Given the description of an element on the screen output the (x, y) to click on. 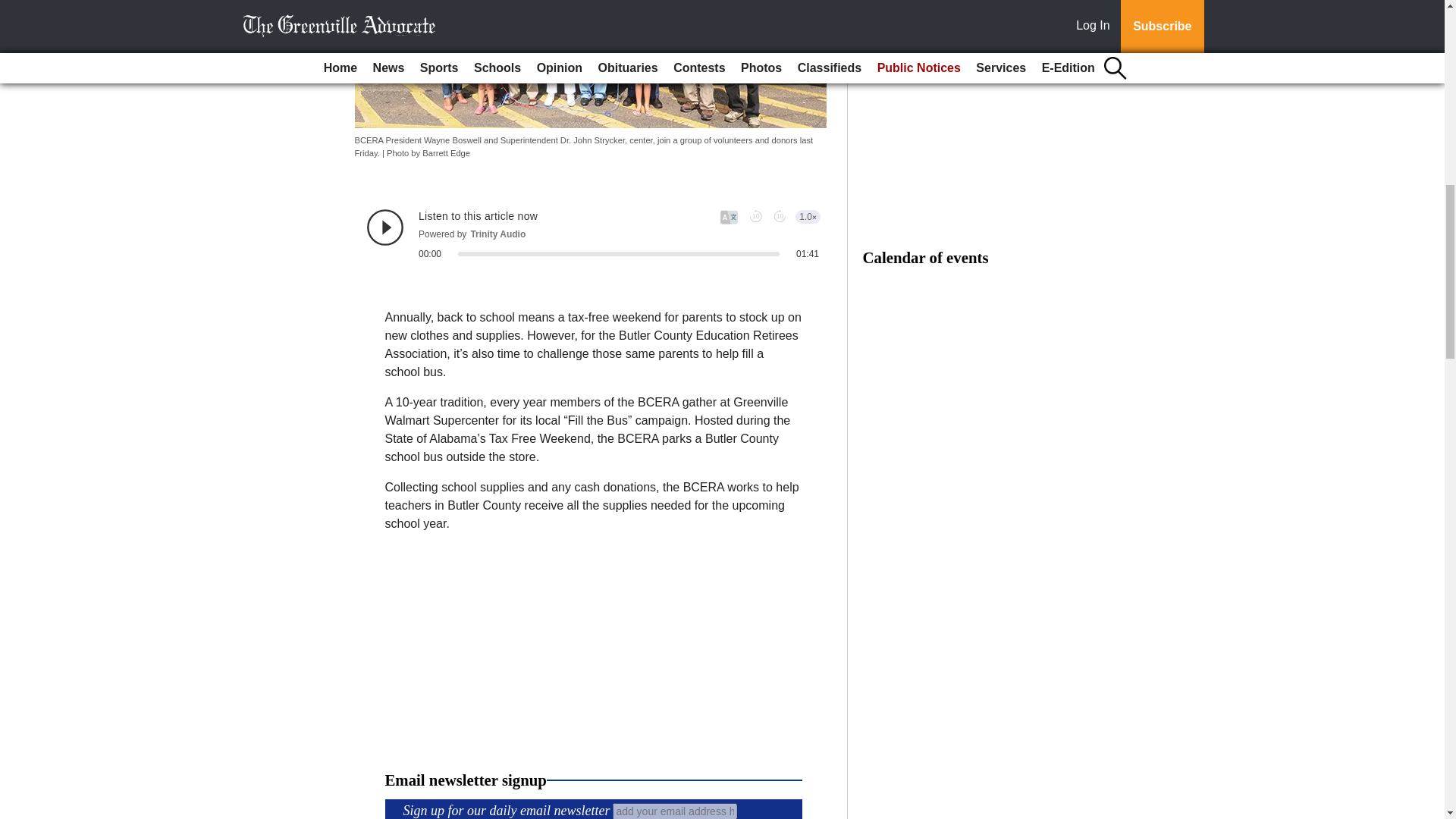
Trinity Audio Player (592, 234)
